Given the description of an element on the screen output the (x, y) to click on. 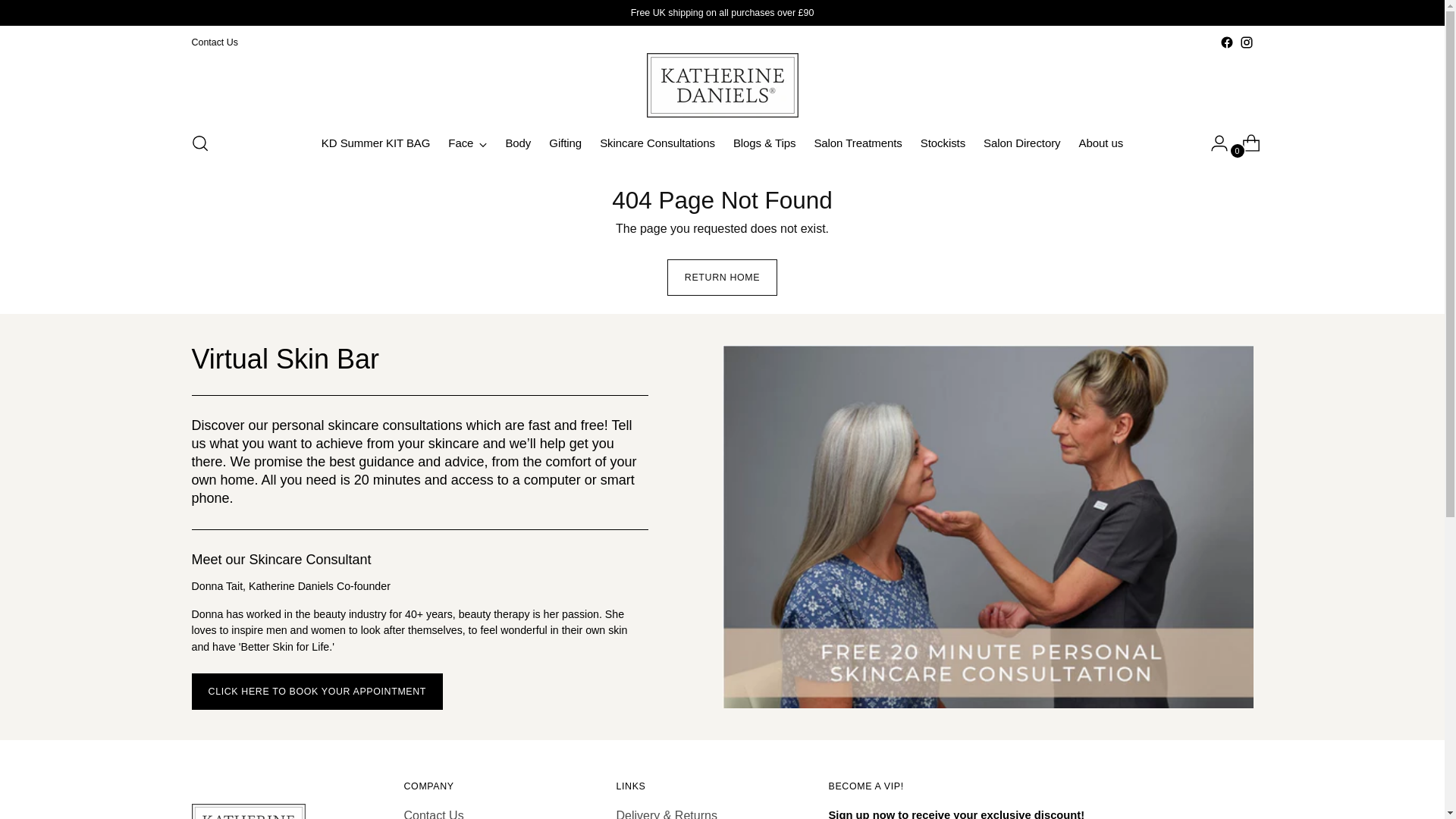
About us (1101, 142)
Katherine Daniels on Instagram (1245, 42)
Contact Us (213, 41)
Skincare Consultations (656, 142)
Gifting (564, 142)
Face (467, 142)
Katherine Daniels on Facebook (1226, 42)
Stockists (942, 142)
Salon Treatments (857, 142)
0 (1245, 142)
Salon Directory (1021, 142)
KD Summer KIT BAG (375, 142)
